Given the description of an element on the screen output the (x, y) to click on. 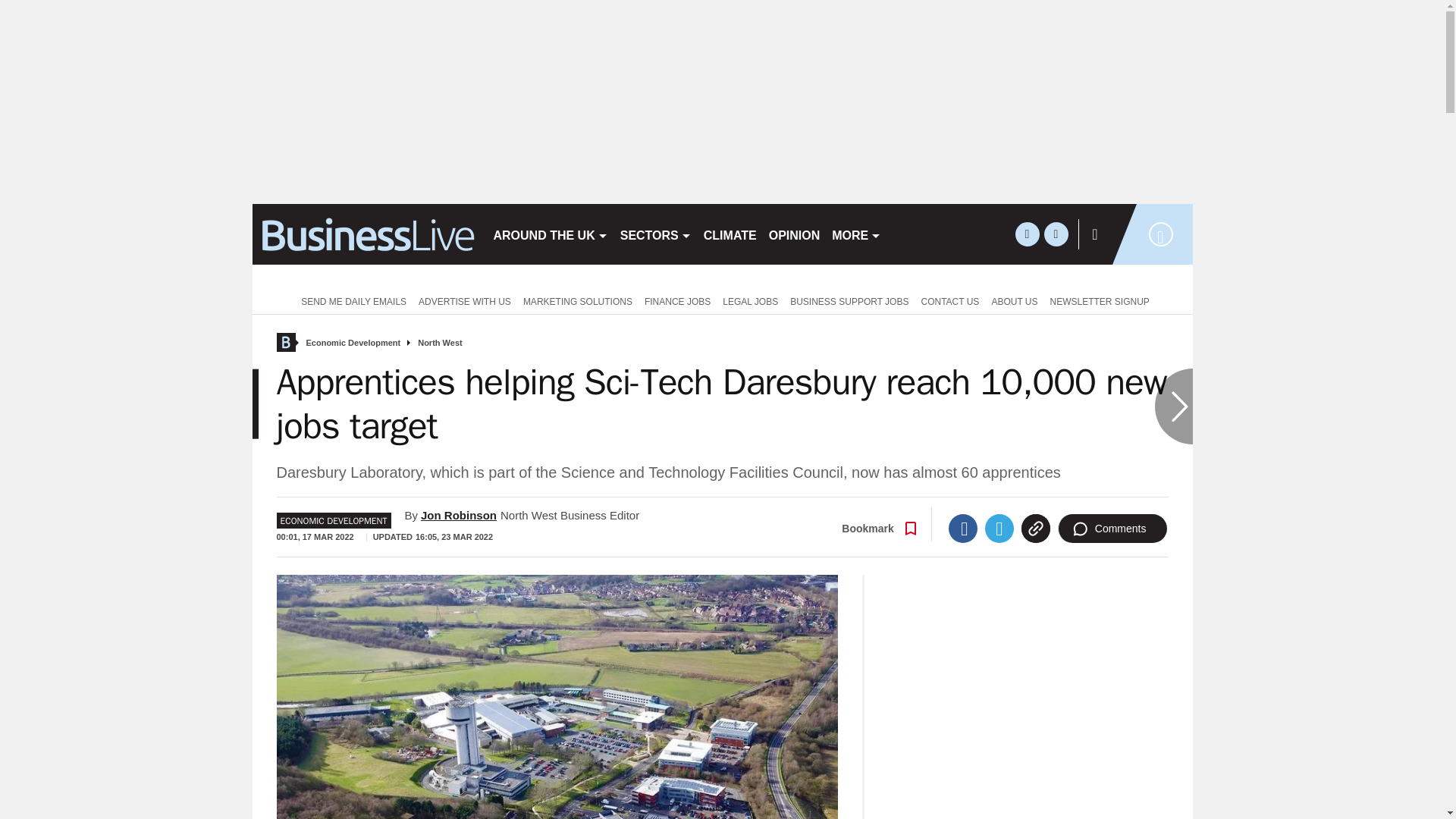
Twitter (999, 528)
SECTORS (655, 233)
LEGAL JOBS (750, 300)
CLIMATE (729, 233)
twitter (1026, 233)
birminghampost (365, 233)
OPINION (794, 233)
FINANCE JOBS (677, 300)
MARKETING SOLUTIONS (577, 300)
Comments (1112, 528)
